Given the description of an element on the screen output the (x, y) to click on. 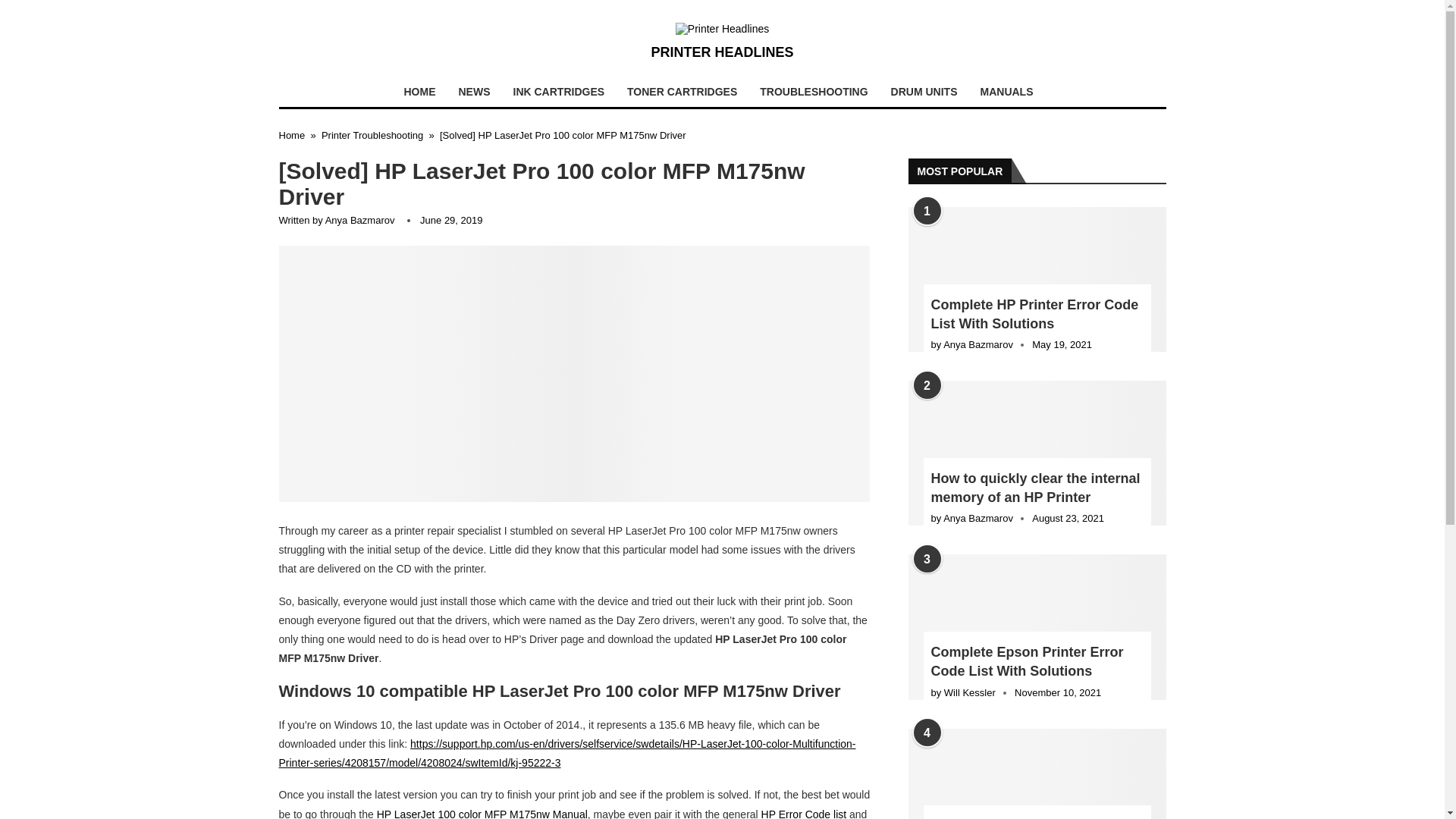
TONER CARTRIDGES (681, 91)
TROUBLESHOOTING (813, 91)
NEWS (474, 91)
Anya Bazmarov (359, 220)
Printer Troubleshooting (372, 134)
INK CARTRIDGES (558, 91)
Complete HP Printer Error Code List With Solutions (1036, 314)
How to quickly clear the internal memory of an HP Printer (1036, 487)
Home (292, 134)
PRINTER HEADLINES (721, 41)
Complete Epson Printer Error Code List With Solutions (1037, 626)
MANUALS (1007, 91)
How to quickly clear the internal memory of an HP Printer (1037, 452)
HOME (419, 91)
